Given the description of an element on the screen output the (x, y) to click on. 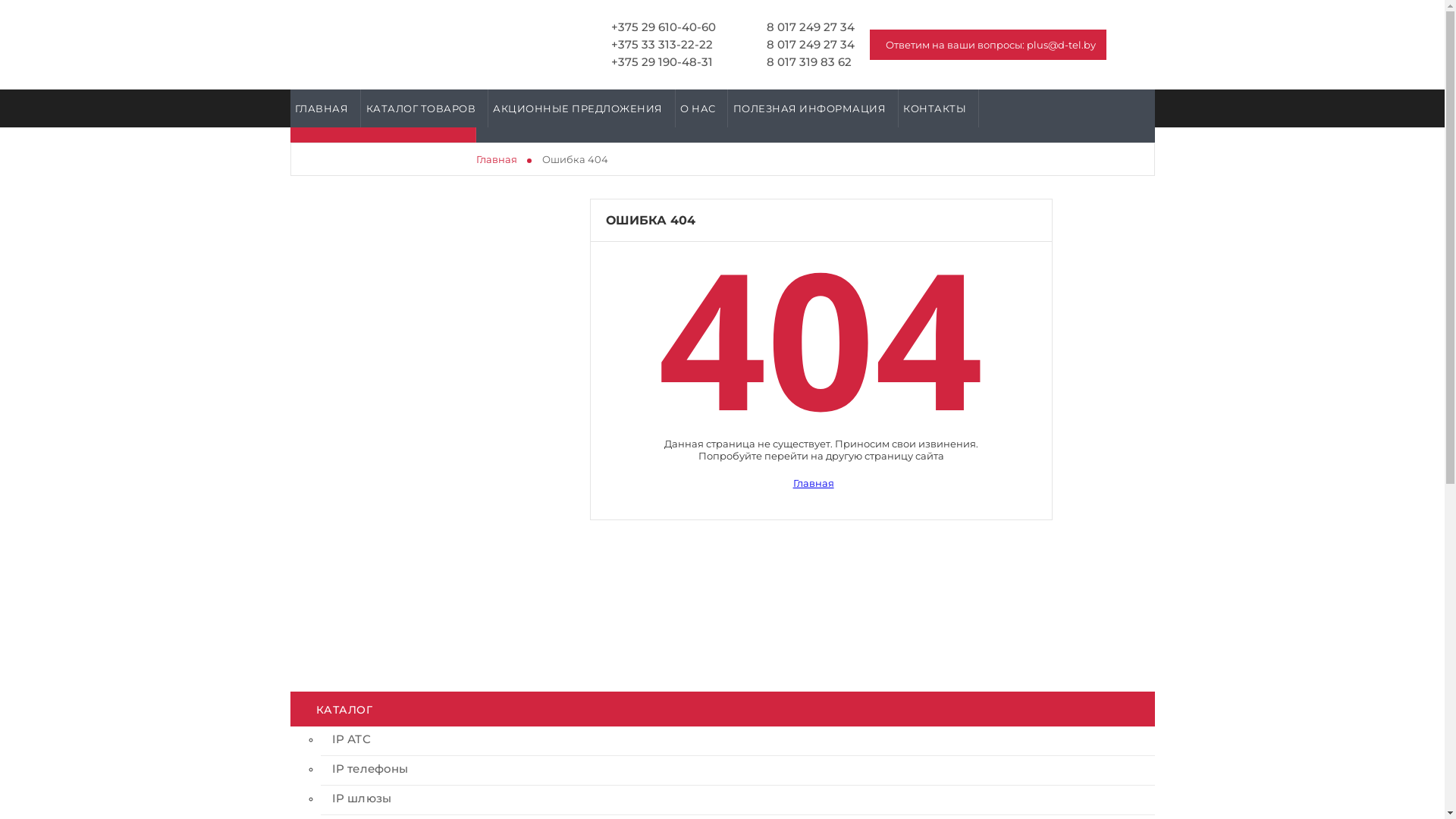
8 017 249 27 34 Element type: text (800, 44)
+375 29 610-40-60 Element type: text (652, 27)
+375 29 190-48-31 Element type: text (652, 62)
8 017 249 27 34 Element type: text (800, 27)
8 017 319 83 62 Element type: text (800, 62)
+375 33 313-22-22 Element type: text (652, 44)
